Given the description of an element on the screen output the (x, y) to click on. 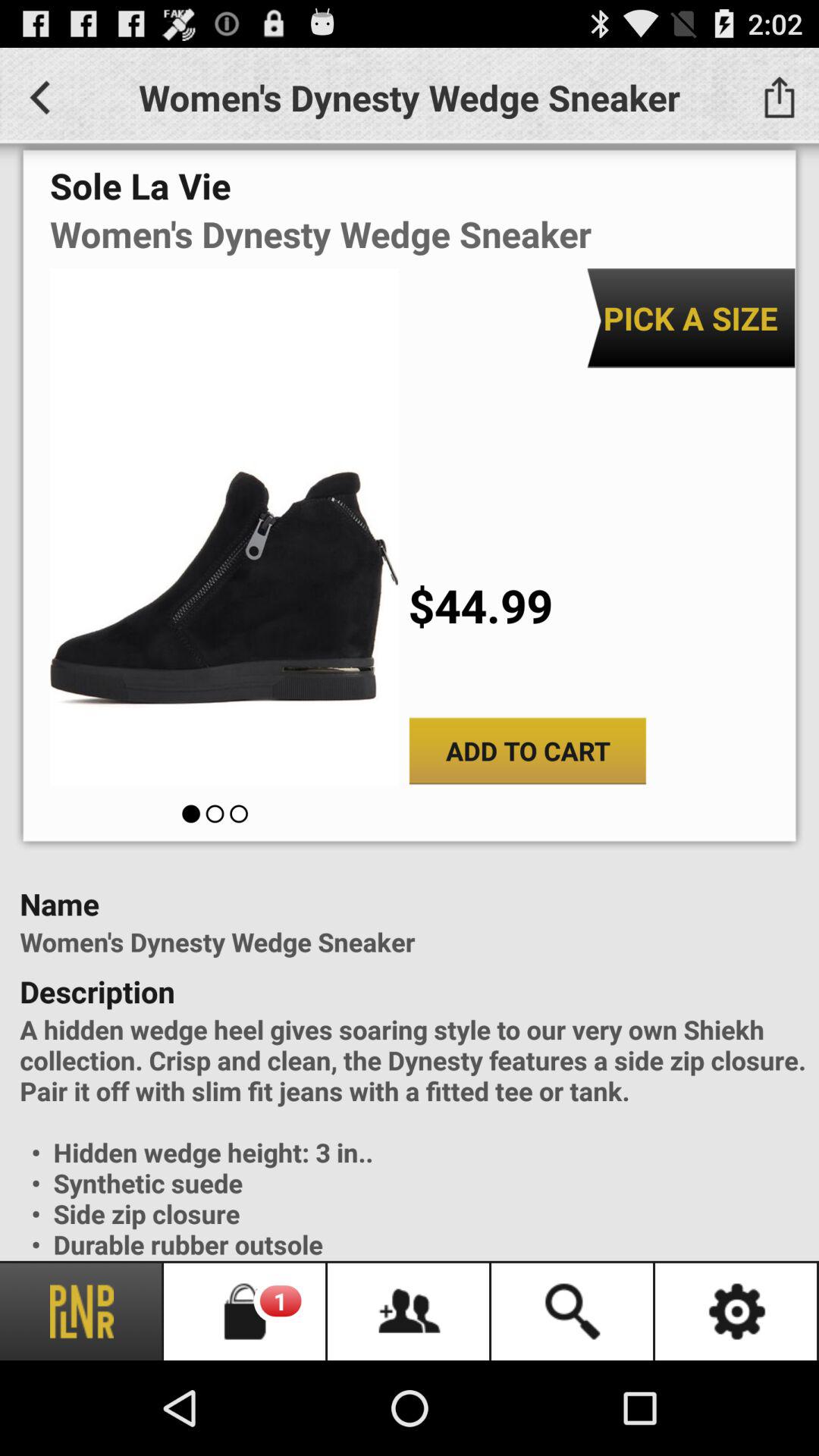
click icon below women s dynesty item (690, 317)
